Given the description of an element on the screen output the (x, y) to click on. 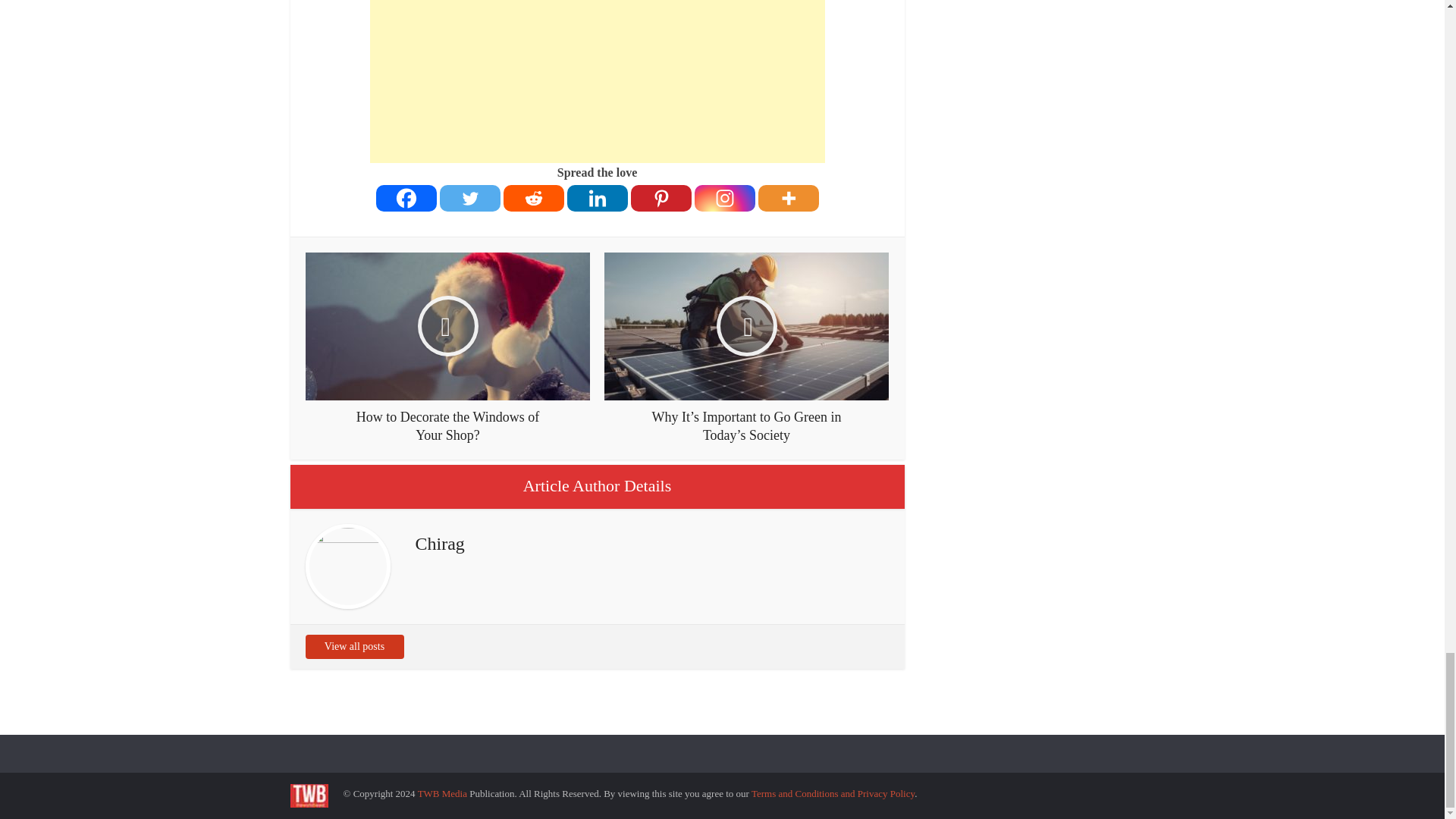
More (788, 197)
View all posts (353, 646)
How to Decorate the Windows of Your Shop? (447, 348)
Pinterest (660, 197)
